Given the description of an element on the screen output the (x, y) to click on. 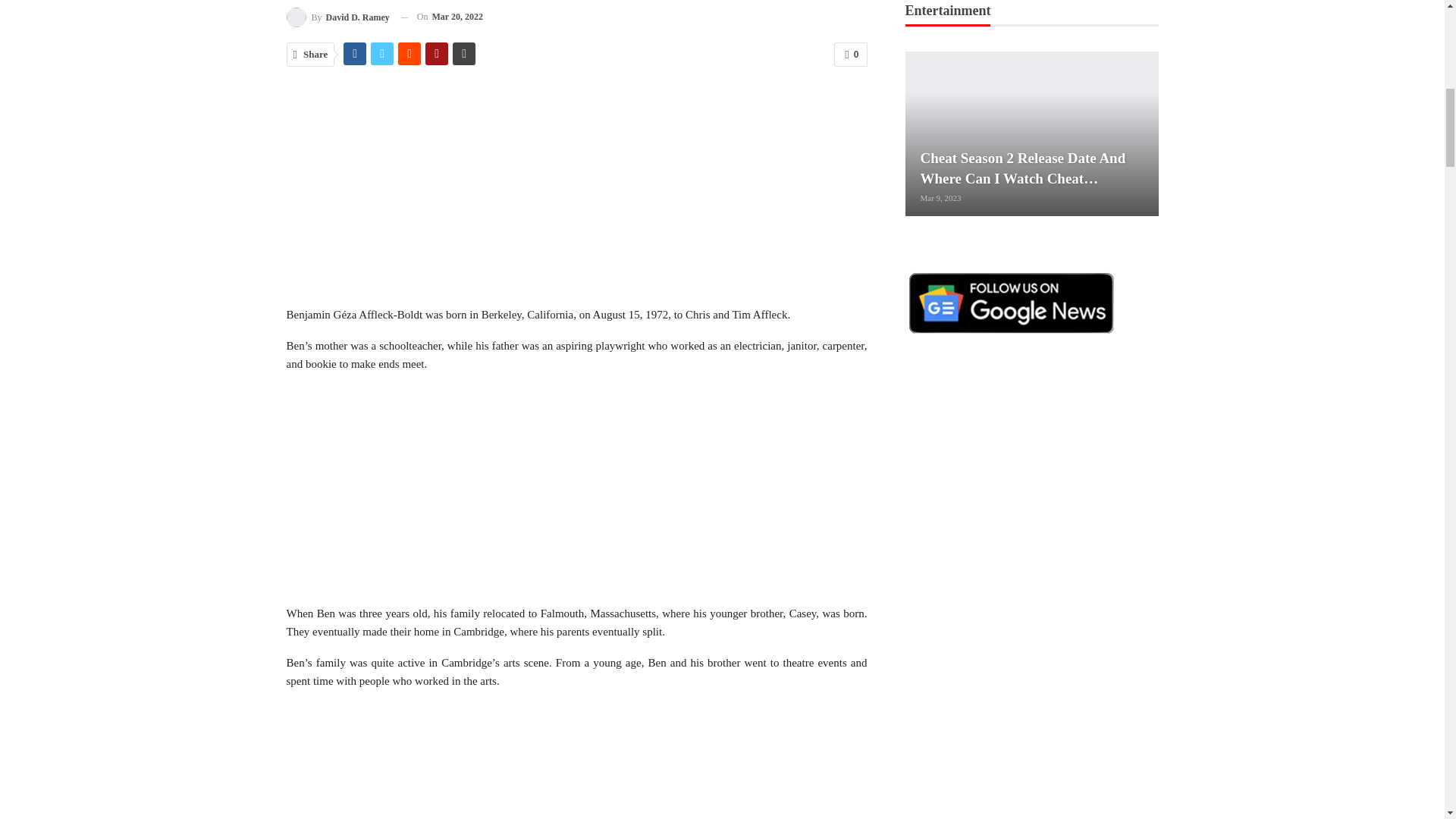
Browse Author Articles (338, 16)
Advertisement (576, 491)
Advertisement (576, 192)
By David D. Ramey (338, 16)
Advertisement (576, 760)
0 (850, 54)
